Given the description of an element on the screen output the (x, y) to click on. 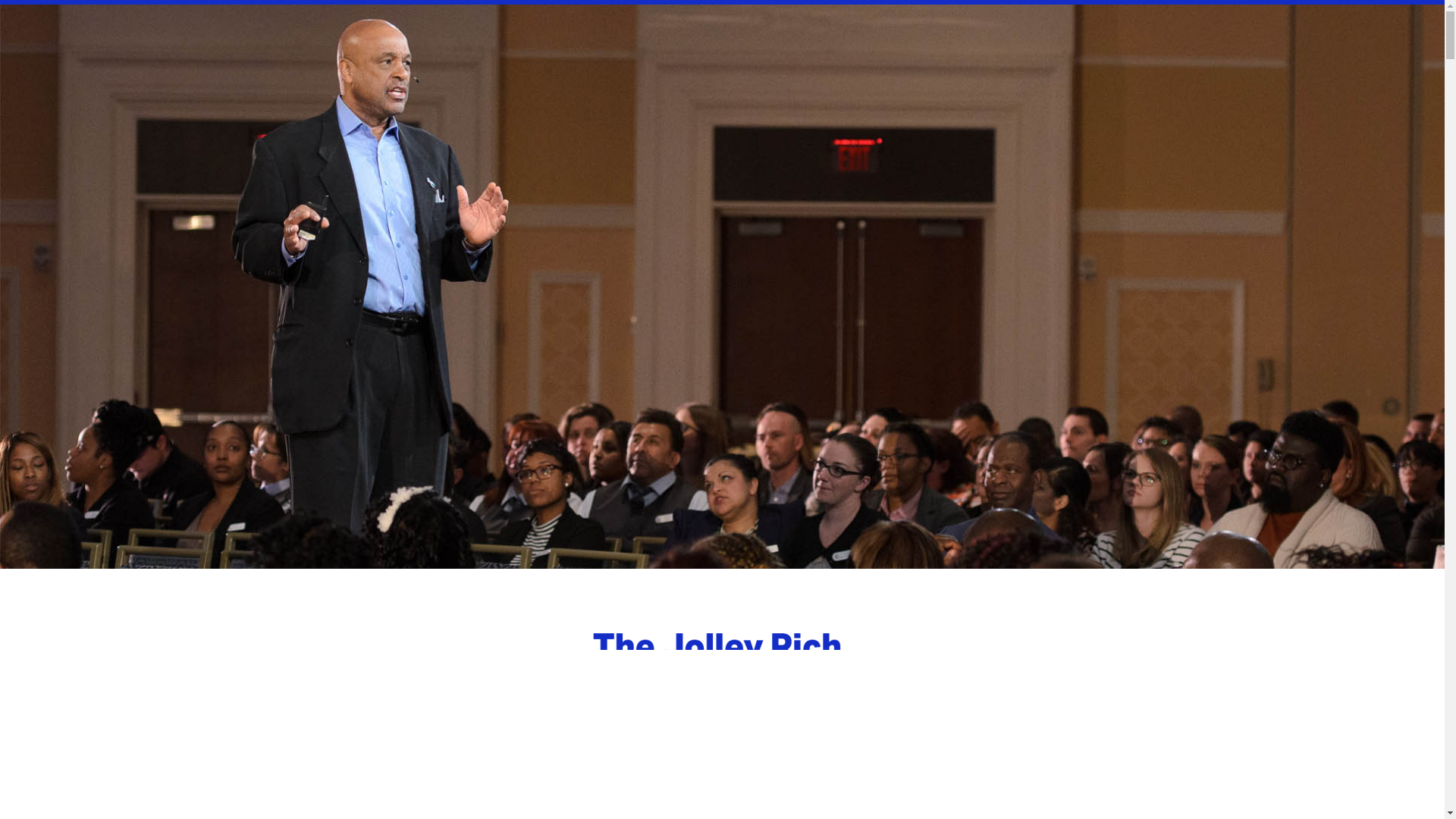
Symposium FAQs (788, 2)
About Dr. Willie Jolley (624, 2)
Home (500, 2)
Testimonials (921, 2)
